Given the description of an element on the screen output the (x, y) to click on. 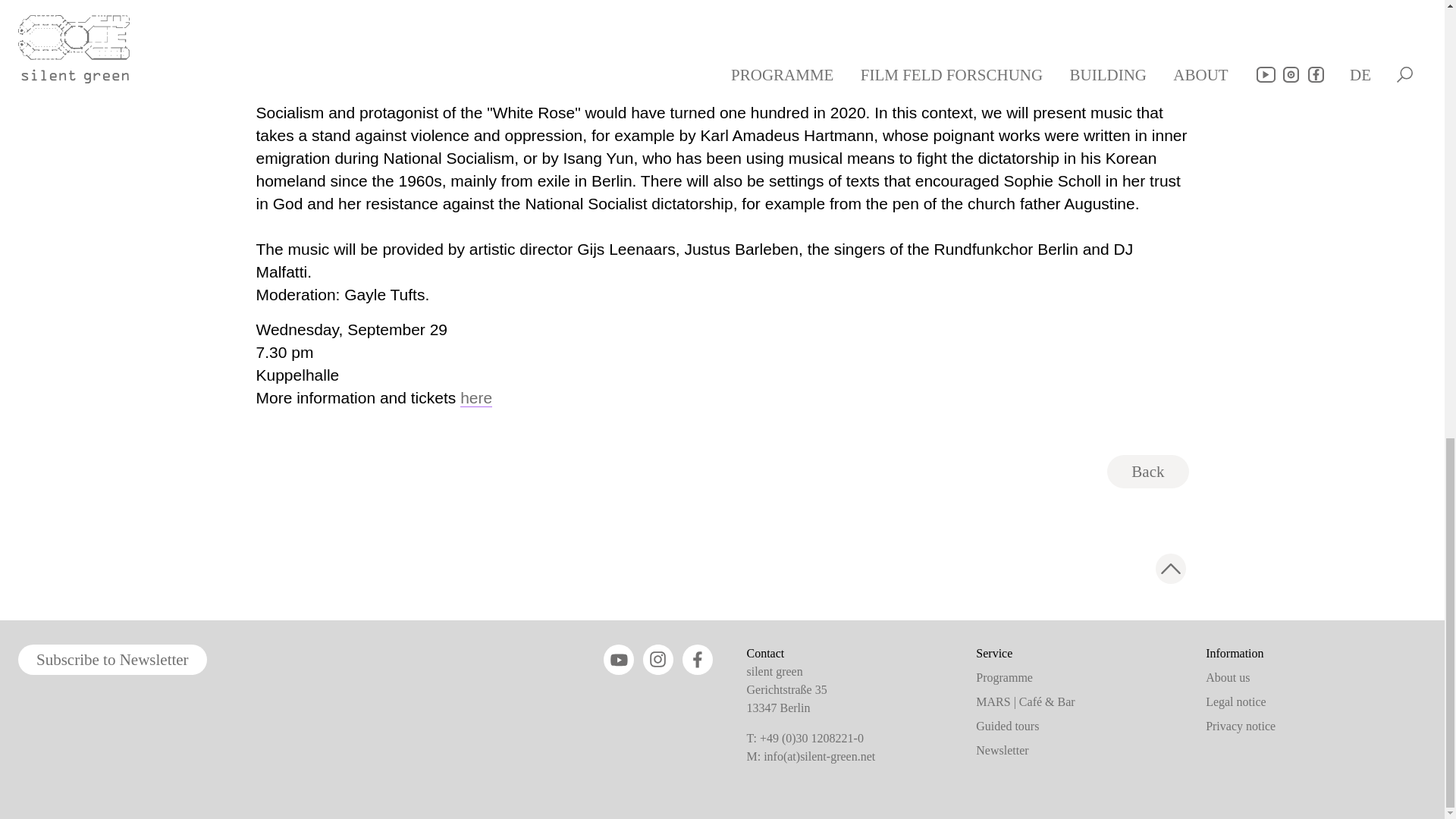
silent green on Instagram (657, 659)
Subscribe to Newsletter (111, 659)
silent green on Facebook (697, 659)
To top (1171, 568)
silent green on Youtube (618, 659)
Back (1147, 471)
here (476, 398)
